Given the description of an element on the screen output the (x, y) to click on. 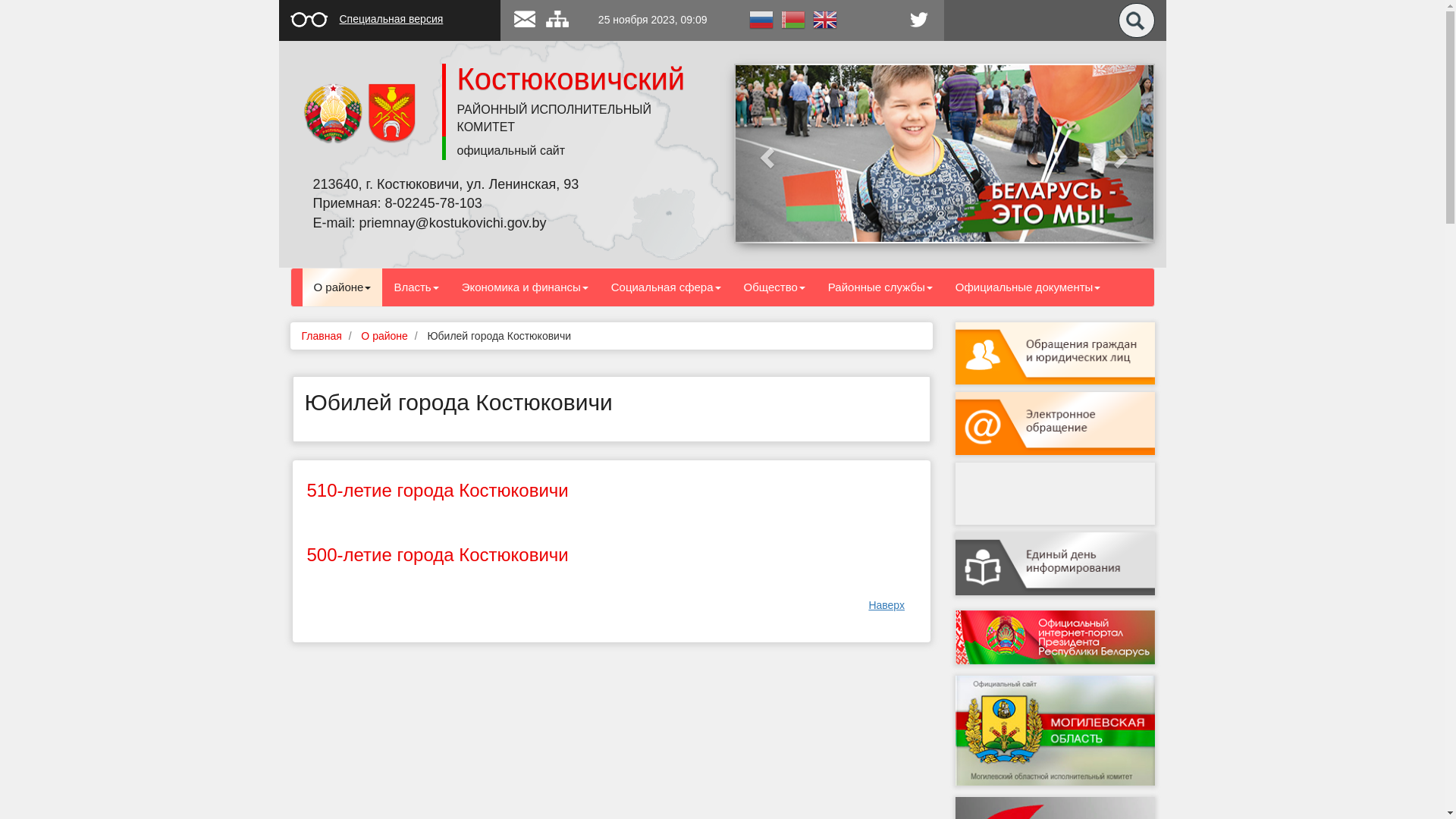
English Element type: hover (824, 18)
Belarusian Element type: hover (792, 18)
Russian Element type: hover (760, 18)
